Given the description of an element on the screen output the (x, y) to click on. 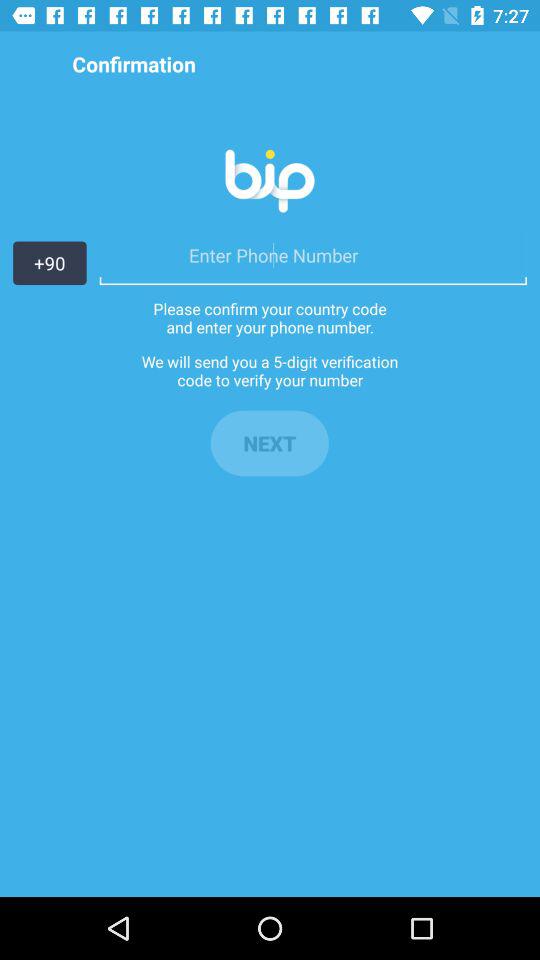
open the next item (269, 443)
